Given the description of an element on the screen output the (x, y) to click on. 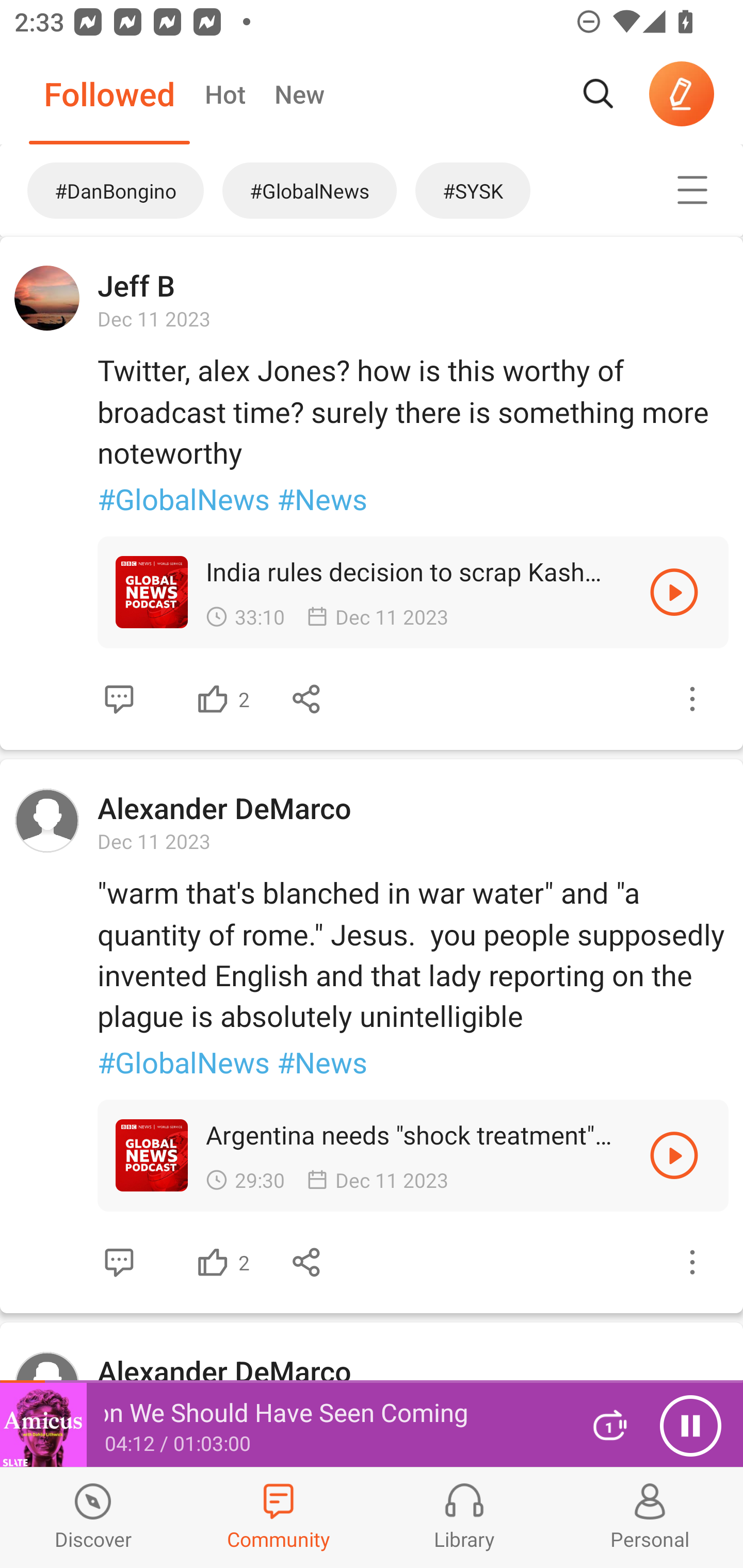
Followed (109, 93)
Hot (224, 93)
New (298, 93)
#DanBongino (106, 190)
#GlobalNews (309, 190)
#SYSK (518, 190)
 (692, 190)
 (673, 591)
 (119, 699)
 (212, 699)
 (307, 699)
 (692, 699)
 (673, 1154)
 (119, 1262)
 (212, 1262)
 (307, 1262)
 (692, 1262)
Pause (690, 1425)
Discover (92, 1517)
Community (278, 1517)
Library (464, 1517)
Profiles and Settings Personal (650, 1517)
